Given the description of an element on the screen output the (x, y) to click on. 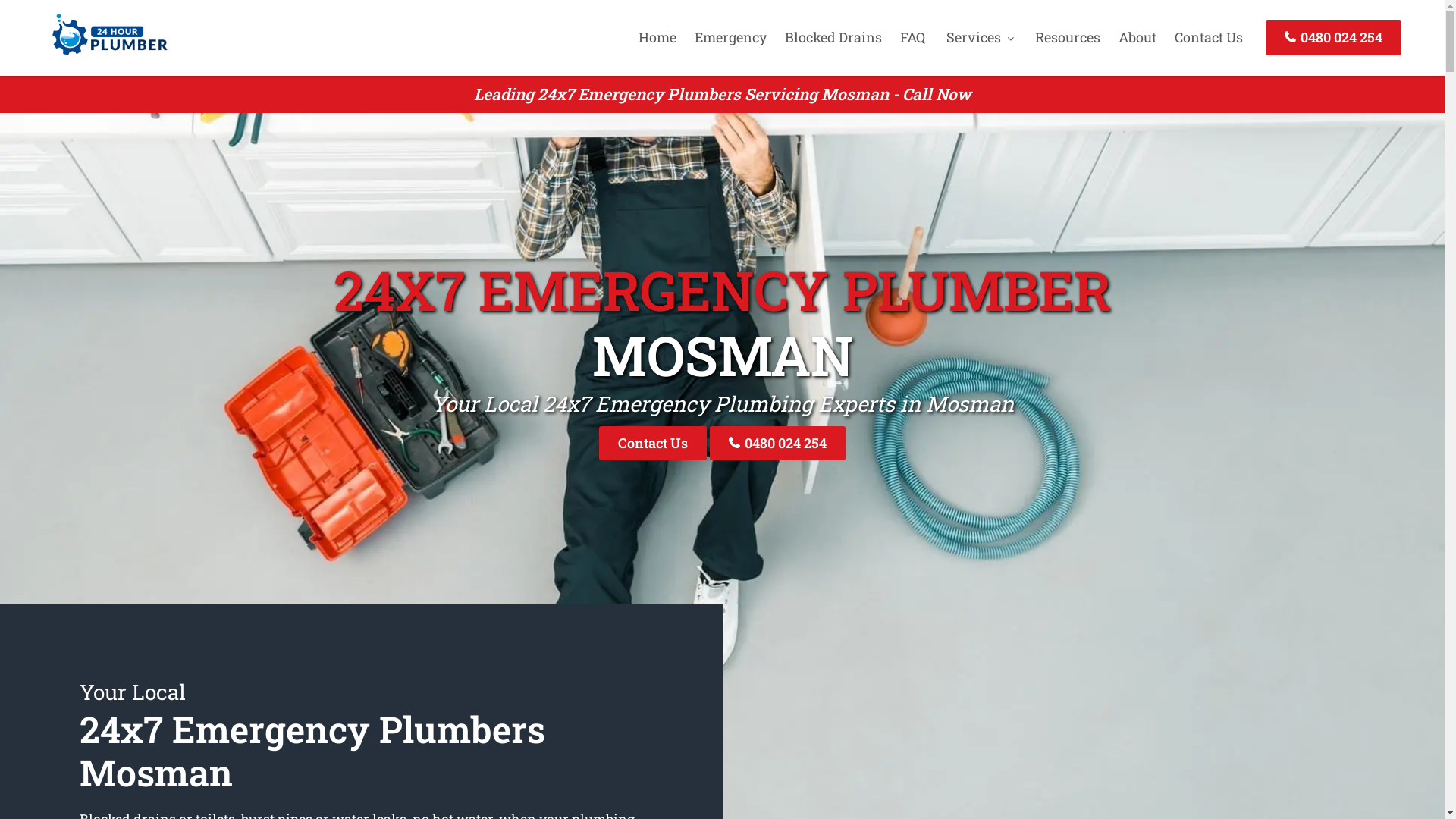
Blocked Drains Element type: text (833, 37)
Resources Element type: text (1067, 37)
Contact Us Element type: text (652, 443)
Contact Us Element type: text (1208, 37)
Emergency Element type: text (730, 37)
FAQ Element type: text (912, 37)
Services Element type: text (979, 37)
Home Element type: text (657, 37)
0480 024 254 Element type: text (1333, 37)
24 Hour Plumber Element type: hover (105, 56)
About Element type: text (1137, 37)
0480 024 254 Element type: text (777, 443)
